Given the description of an element on the screen output the (x, y) to click on. 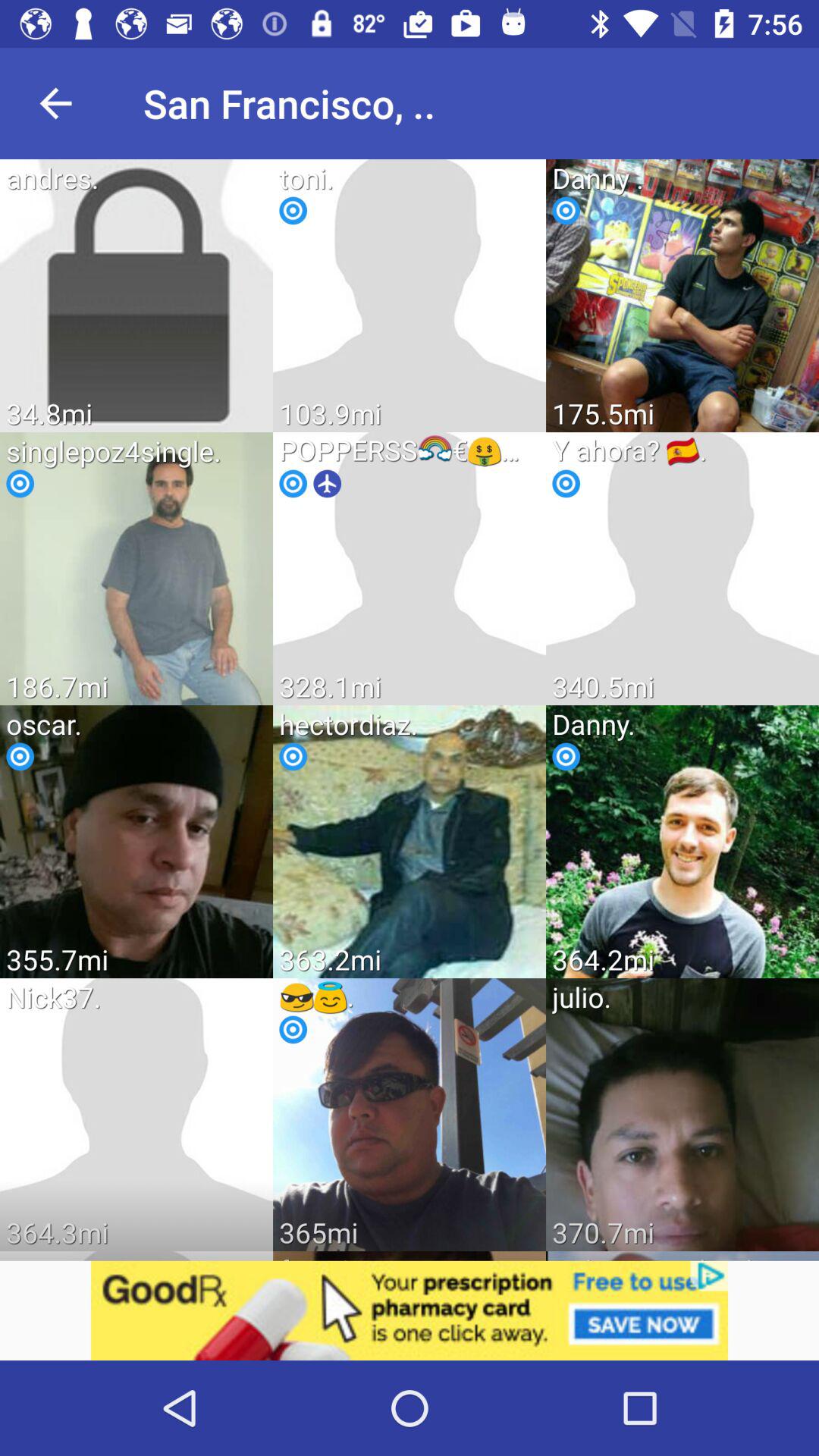
open advertisement (409, 1310)
